Given the description of an element on the screen output the (x, y) to click on. 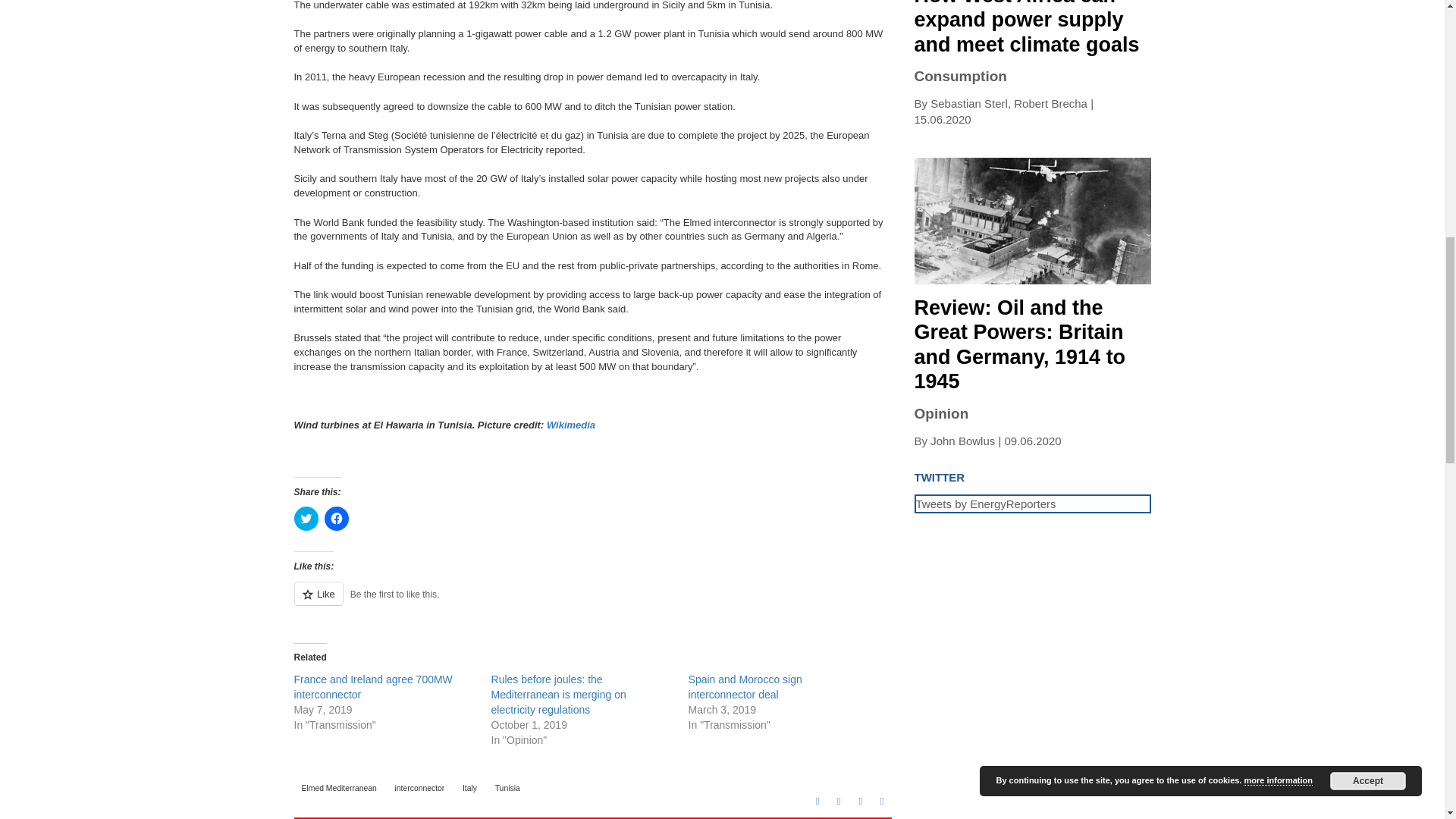
Click to share on Facebook (336, 518)
France and Ireland agree 700MW interconnector (373, 687)
Like or Reblog (592, 602)
Spain and Morocco sign interconnector deal (745, 687)
Wikimedia (571, 424)
Click to share on Twitter (306, 518)
